Given the description of an element on the screen output the (x, y) to click on. 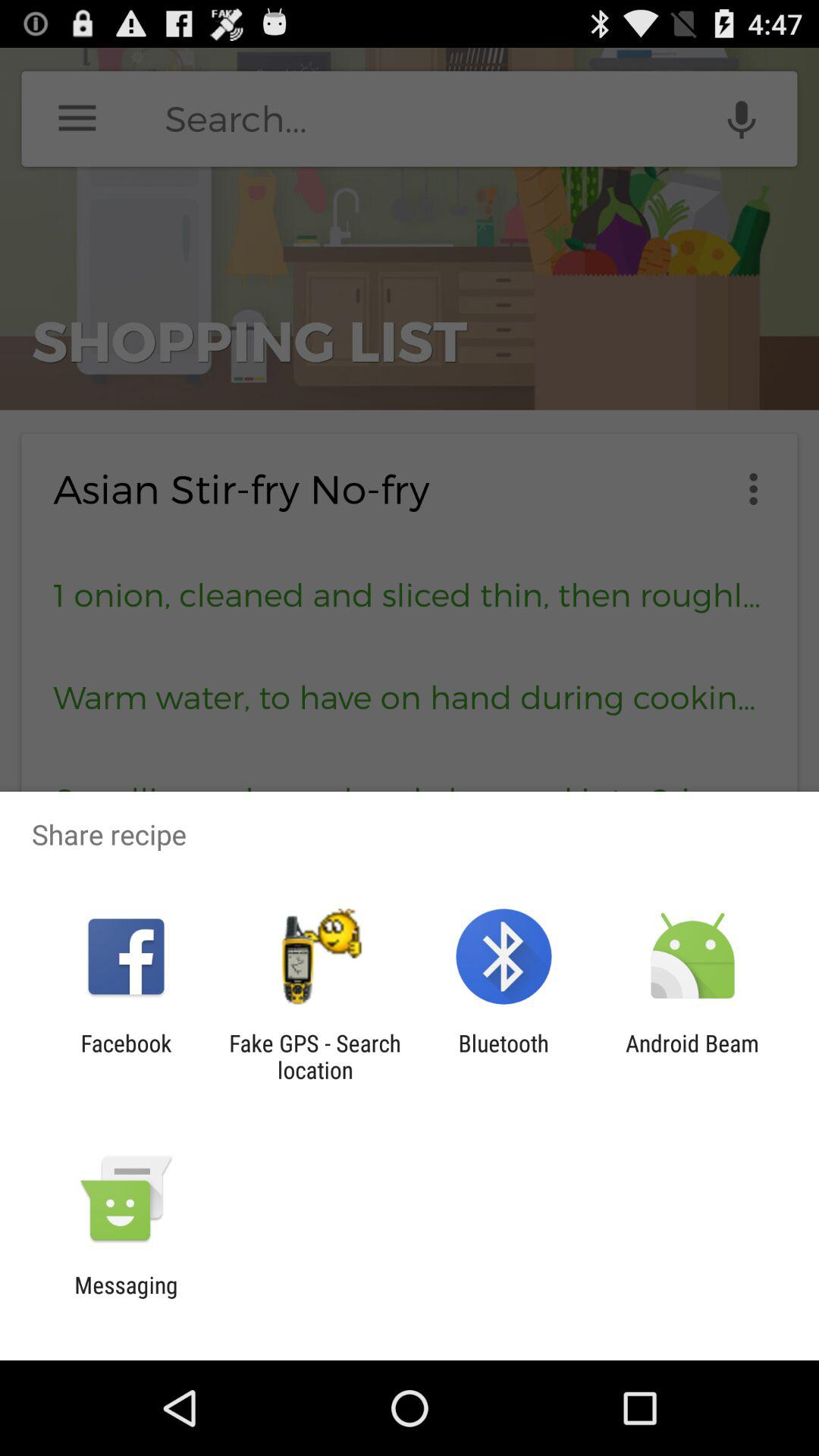
choose app to the right of fake gps search (503, 1056)
